Given the description of an element on the screen output the (x, y) to click on. 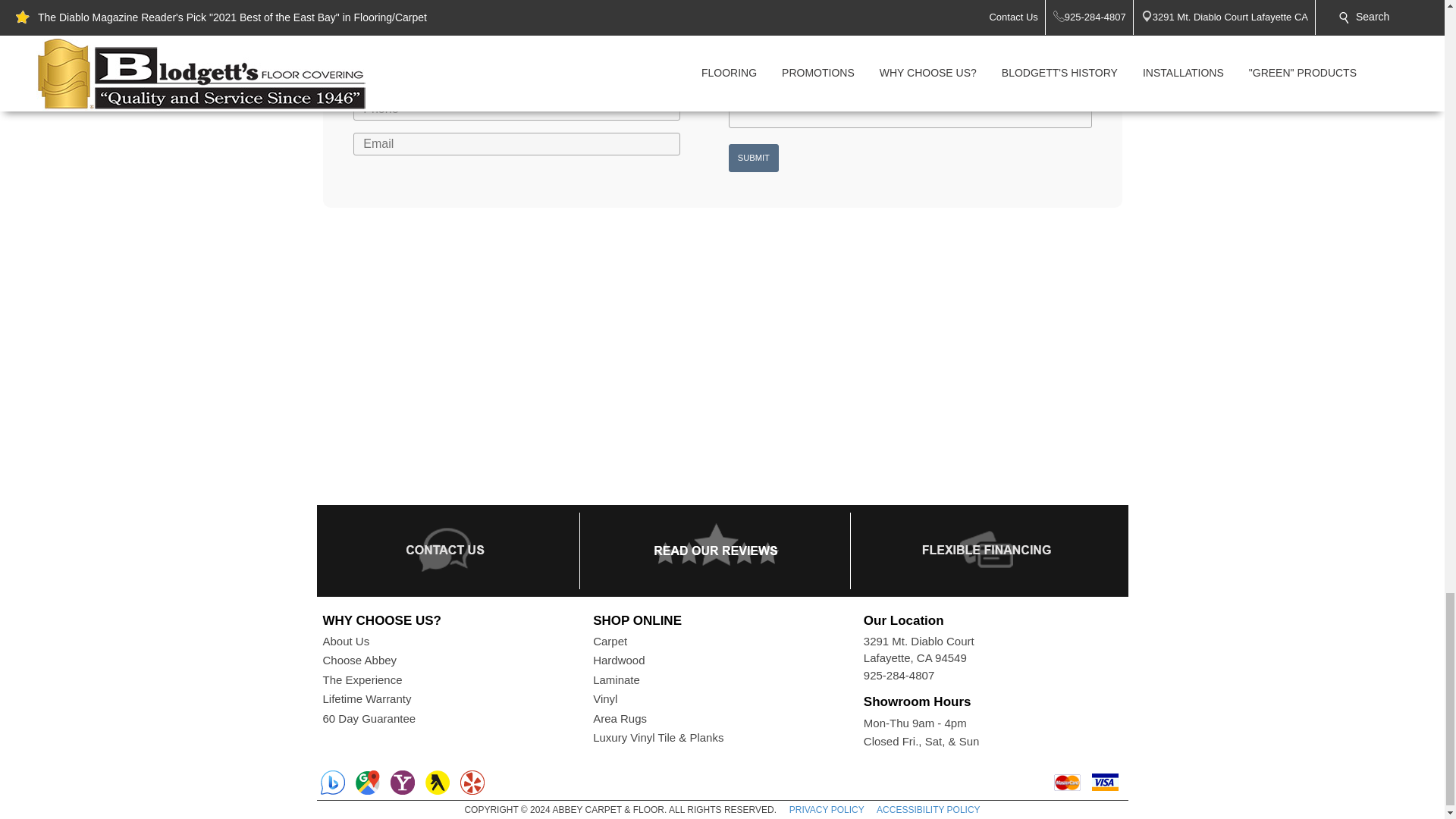
Yahoo (402, 782)
Yelp (472, 782)
Submit (753, 157)
Google (367, 782)
Bing (331, 782)
Yellowpages (437, 782)
